Given the description of an element on the screen output the (x, y) to click on. 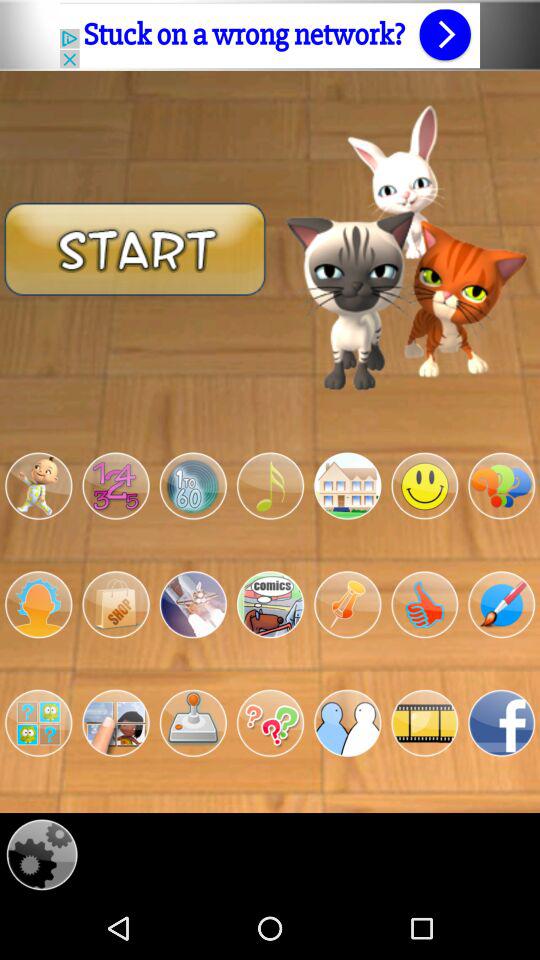
select the text at the top of the page first line (269, 35)
click the icon at the left corner bottom of the page (42, 854)
select the 3rd circular image below the start button on the web page (193, 486)
click on the last image (501, 723)
click on painting icon above facebook icon (501, 605)
click on the second left image in second row (115, 605)
click the 4th circular image on the web page (270, 486)
